Given the description of an element on the screen output the (x, y) to click on. 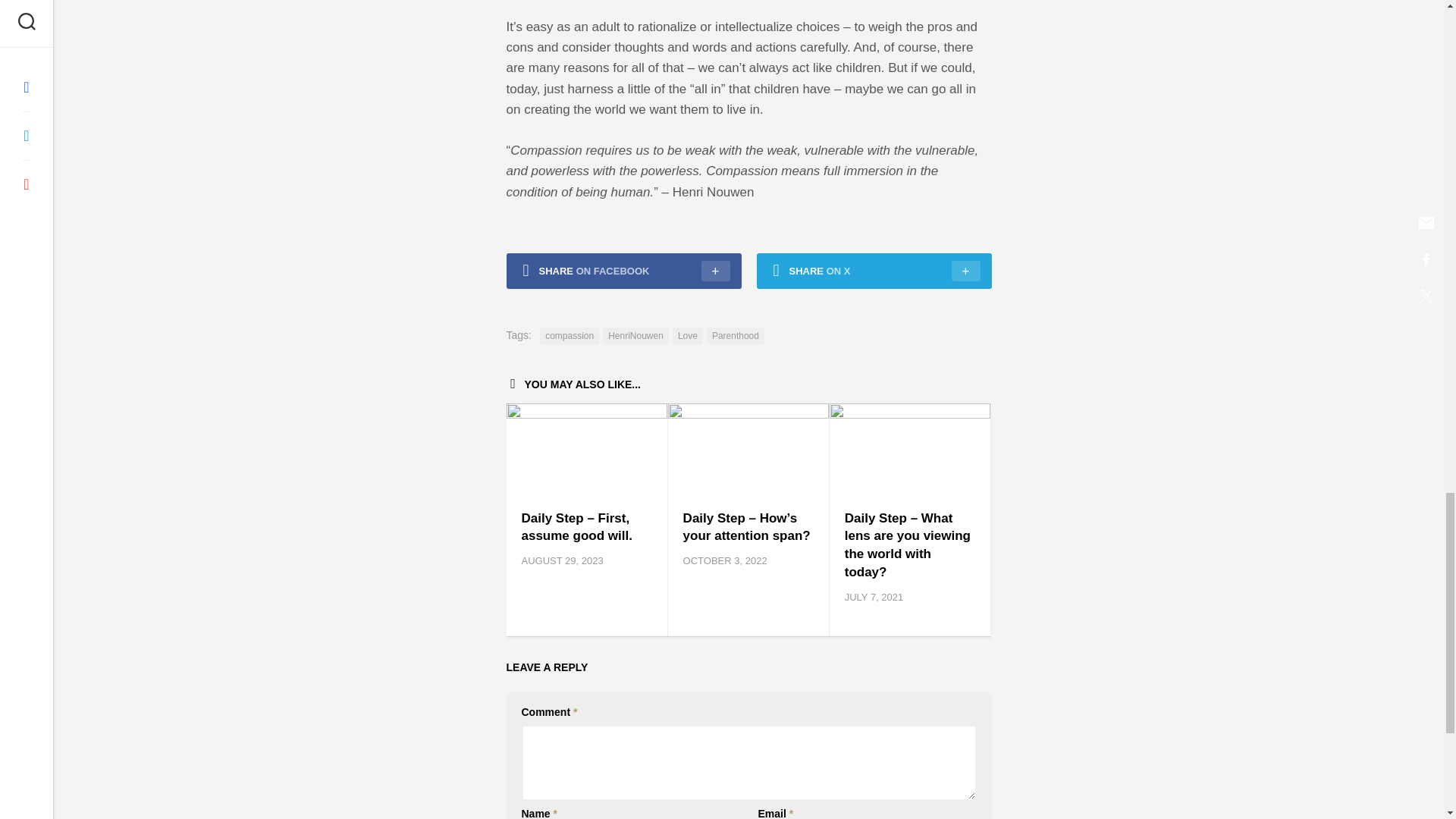
SHARE ON FACEBOOK (623, 271)
compassion (569, 335)
Parenthood (735, 335)
HenriNouwen (635, 335)
Love (687, 335)
SHARE ON X (874, 271)
